Given the description of an element on the screen output the (x, y) to click on. 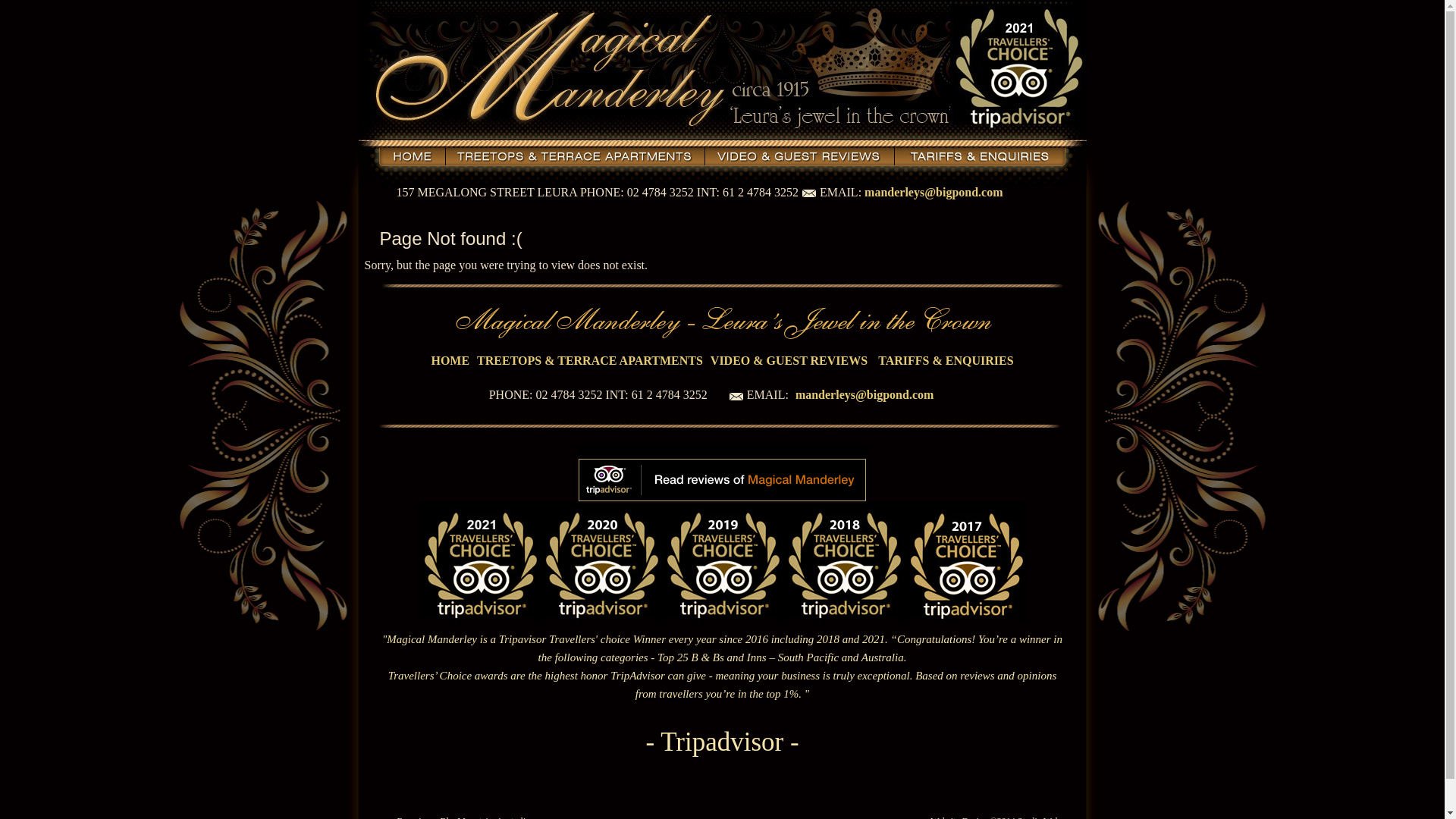
TARIFFS & ENQUIRIES Element type: text (945, 360)
manderleys@bigpond.com Element type: text (864, 394)
manderleys@bigpond.com Element type: text (933, 191)
HOME Element type: text (449, 360)
VIDEO & GUEST REVIEWS Element type: text (788, 360)
TREETOPS & TERRACE APARTMENTS Element type: text (589, 360)
